Given the description of an element on the screen output the (x, y) to click on. 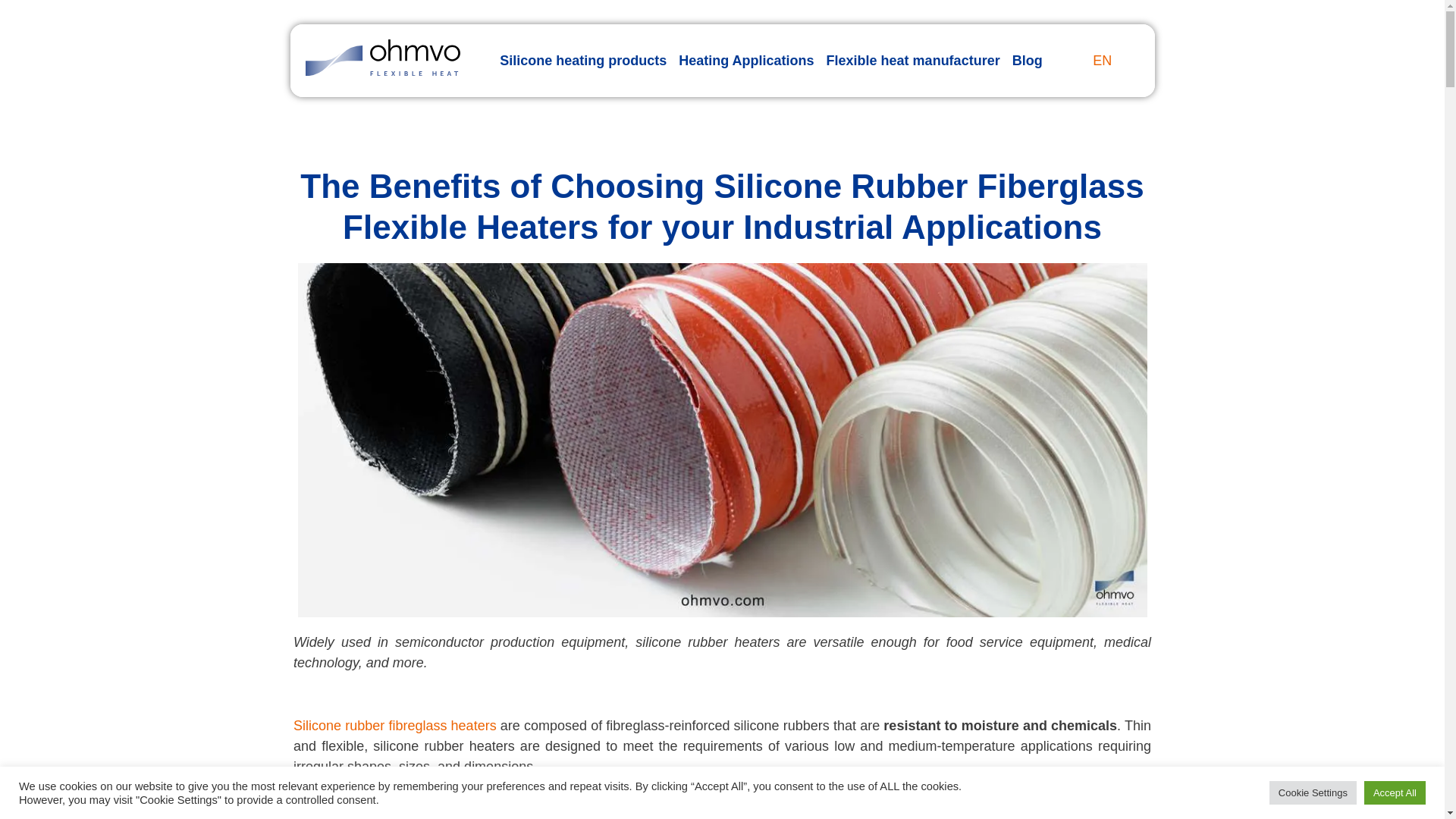
EN (1098, 60)
Heating Applications (745, 60)
Silicone heating products (582, 60)
Flexible heat manufacturer (913, 60)
Blog (1027, 60)
